Given the description of an element on the screen output the (x, y) to click on. 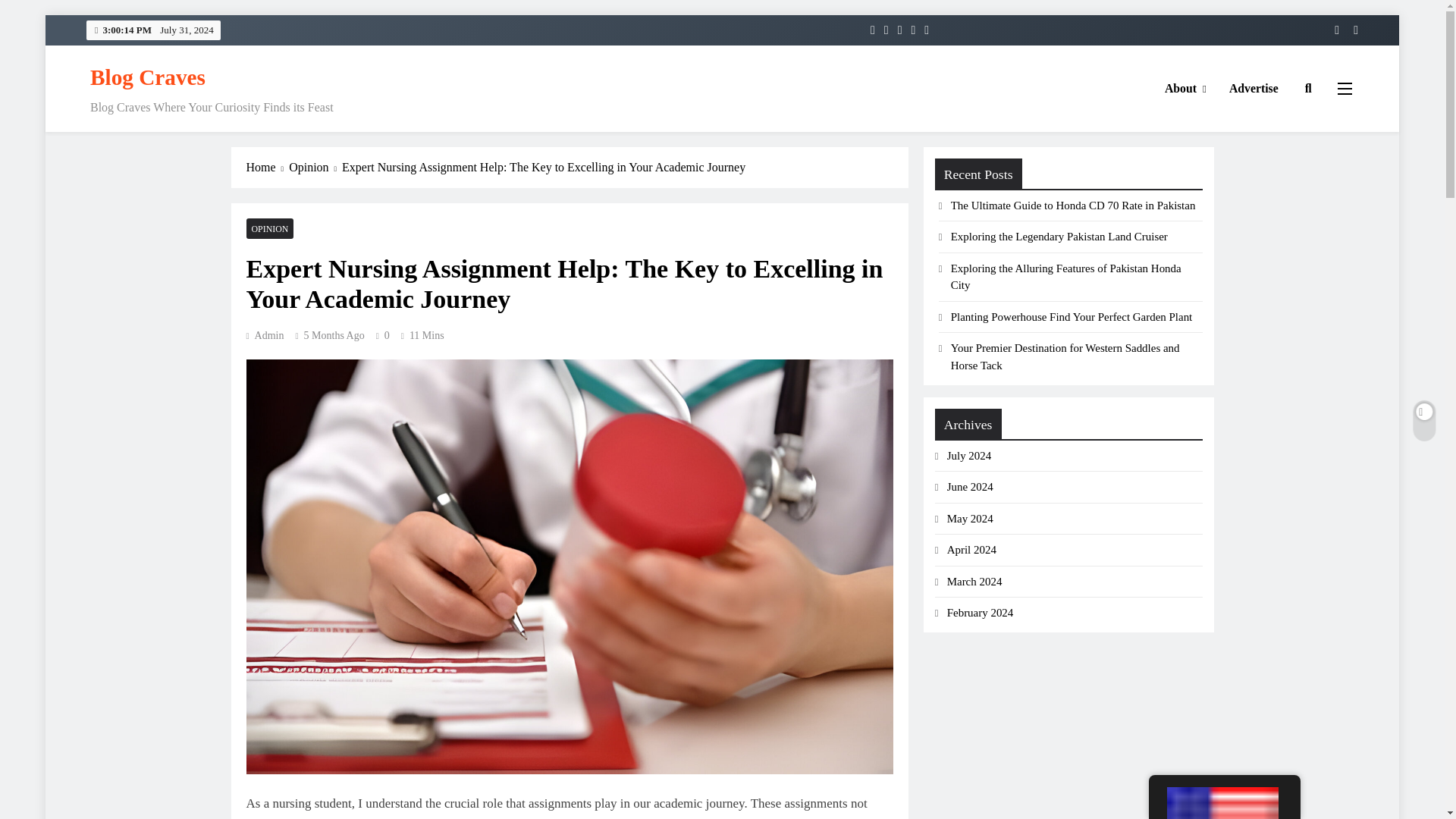
About (1185, 88)
Blog Craves (147, 77)
Advertise (1253, 87)
English (1222, 803)
